Given the description of an element on the screen output the (x, y) to click on. 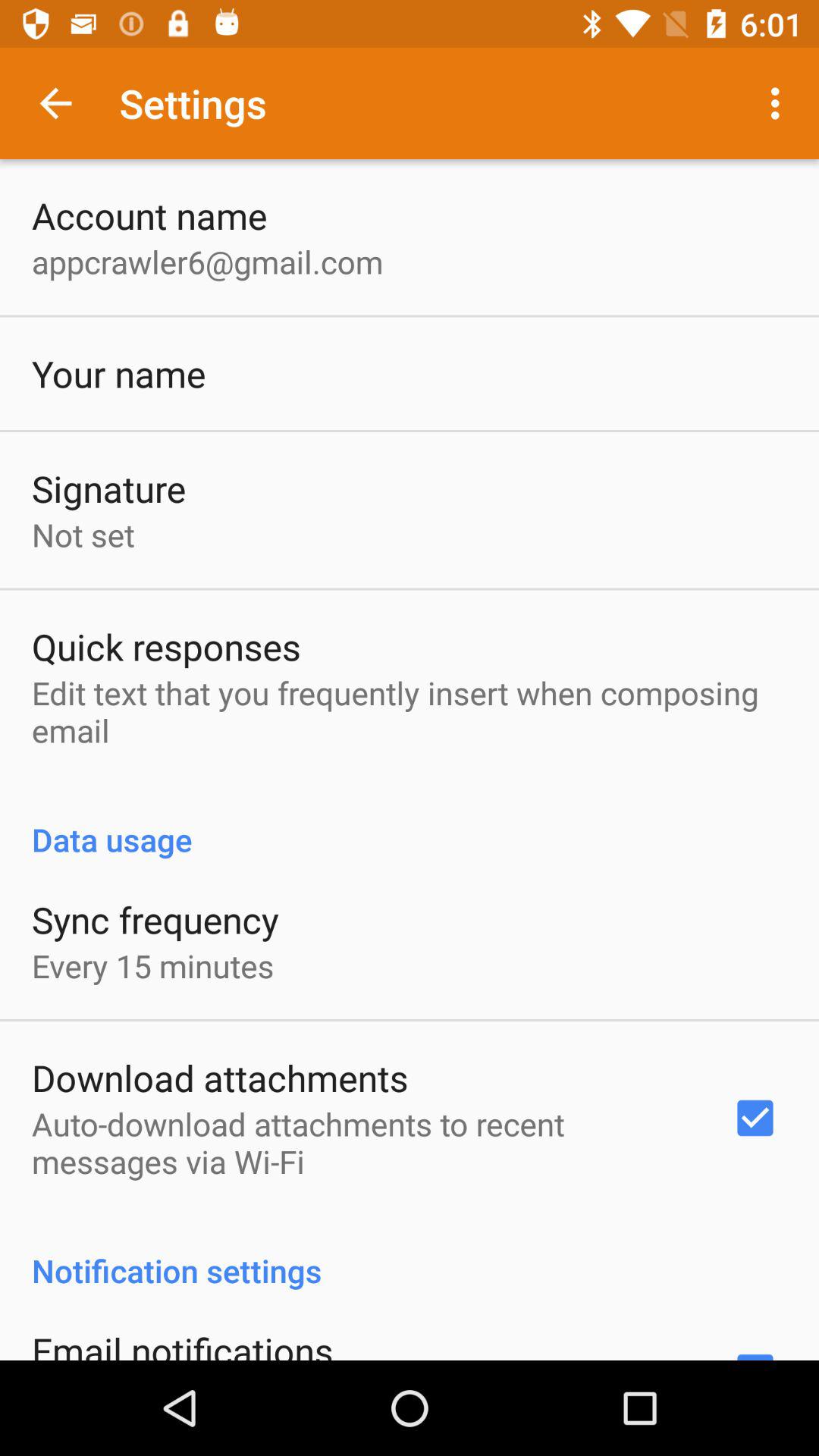
jump until the notification settings (409, 1254)
